Given the description of an element on the screen output the (x, y) to click on. 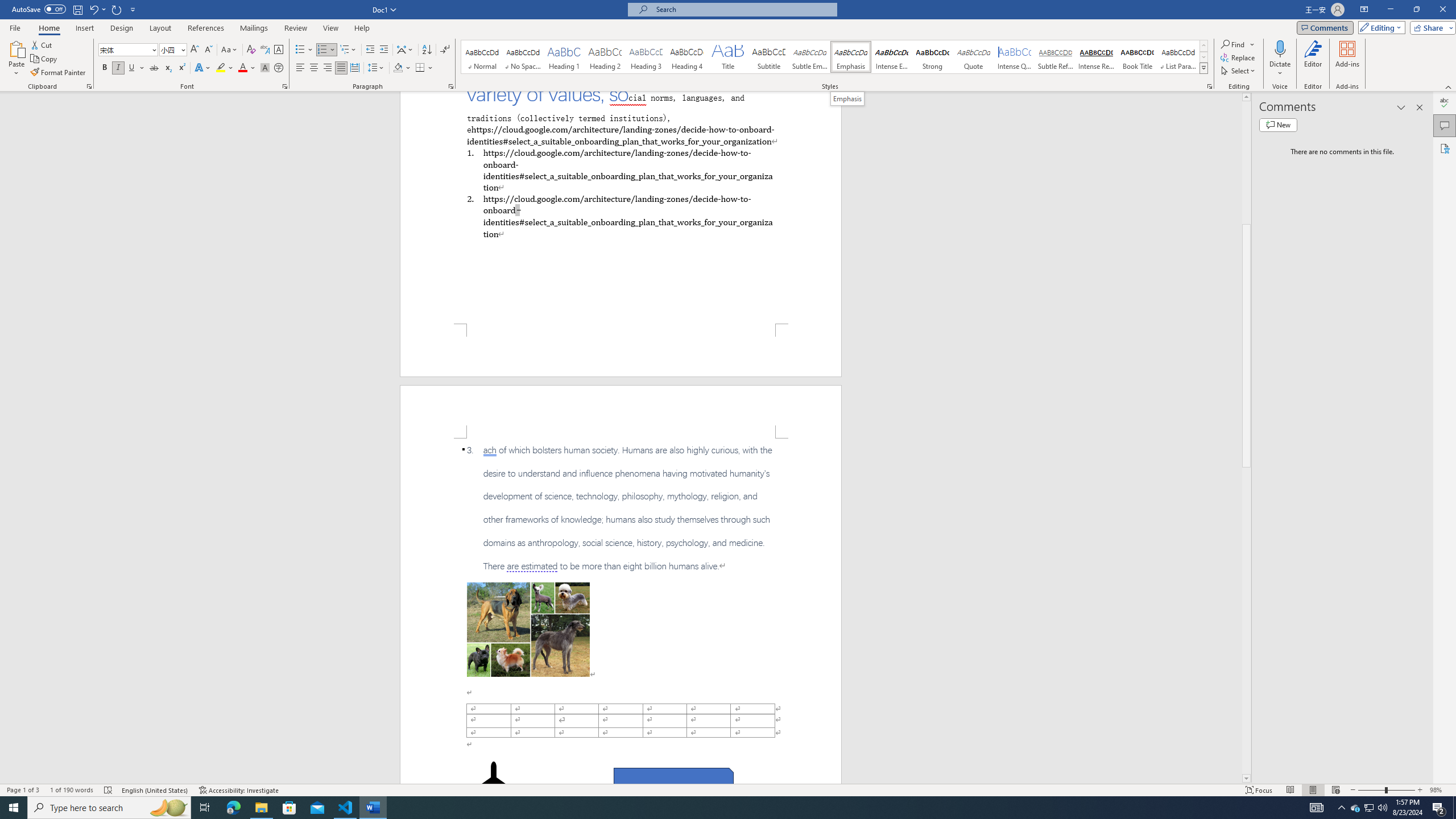
AutomationID: QuickStylesGallery (834, 56)
Strong (932, 56)
Editing (1379, 27)
Accessibility (1444, 147)
2. (620, 216)
Page Number Page 1 of 3 (22, 790)
